Given the description of an element on the screen output the (x, y) to click on. 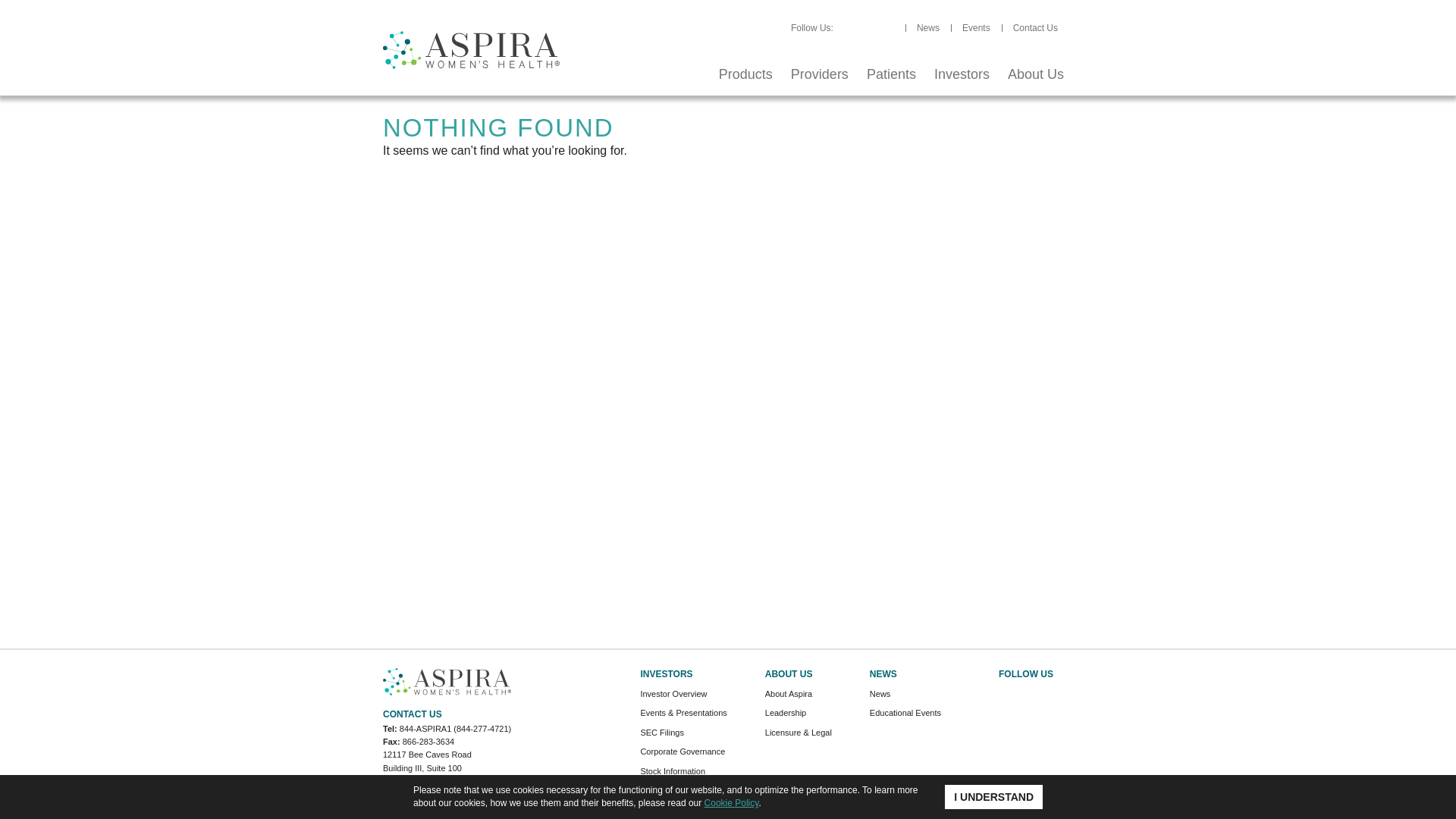
Patients (890, 74)
LinkedIn (1065, 695)
Instagram (873, 27)
Twitter (891, 74)
LinkedIn (1005, 695)
YouTube (888, 27)
Facebook (1045, 695)
Instagram (986, 695)
Providers (1025, 695)
Investors (819, 74)
Facebook (961, 74)
Products (843, 27)
Twitter (745, 74)
